Given the description of an element on the screen output the (x, y) to click on. 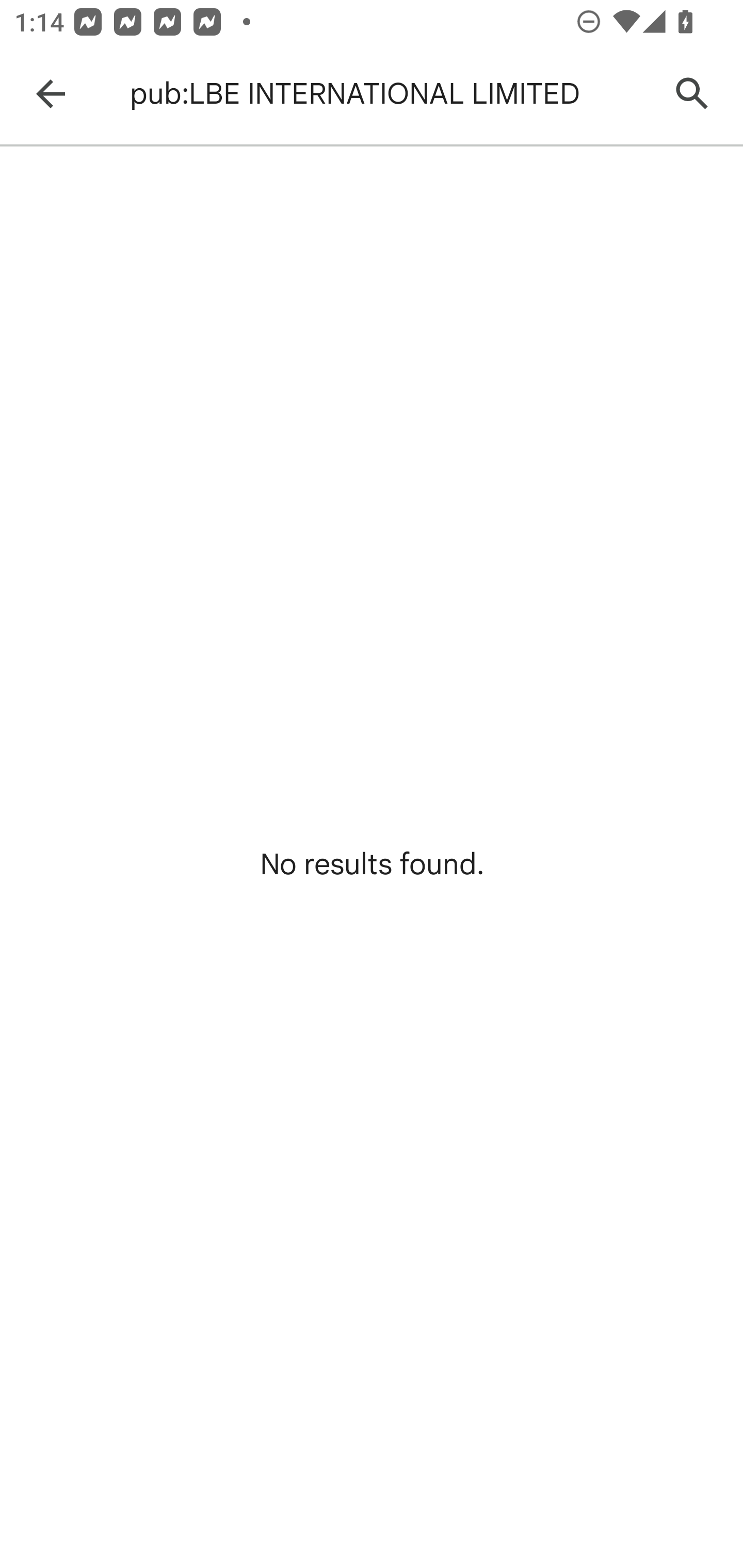
pub:LBE INTERNATIONAL LIMITED (389, 93)
Navigate up (50, 93)
Search Google Play (692, 93)
